Given the description of an element on the screen output the (x, y) to click on. 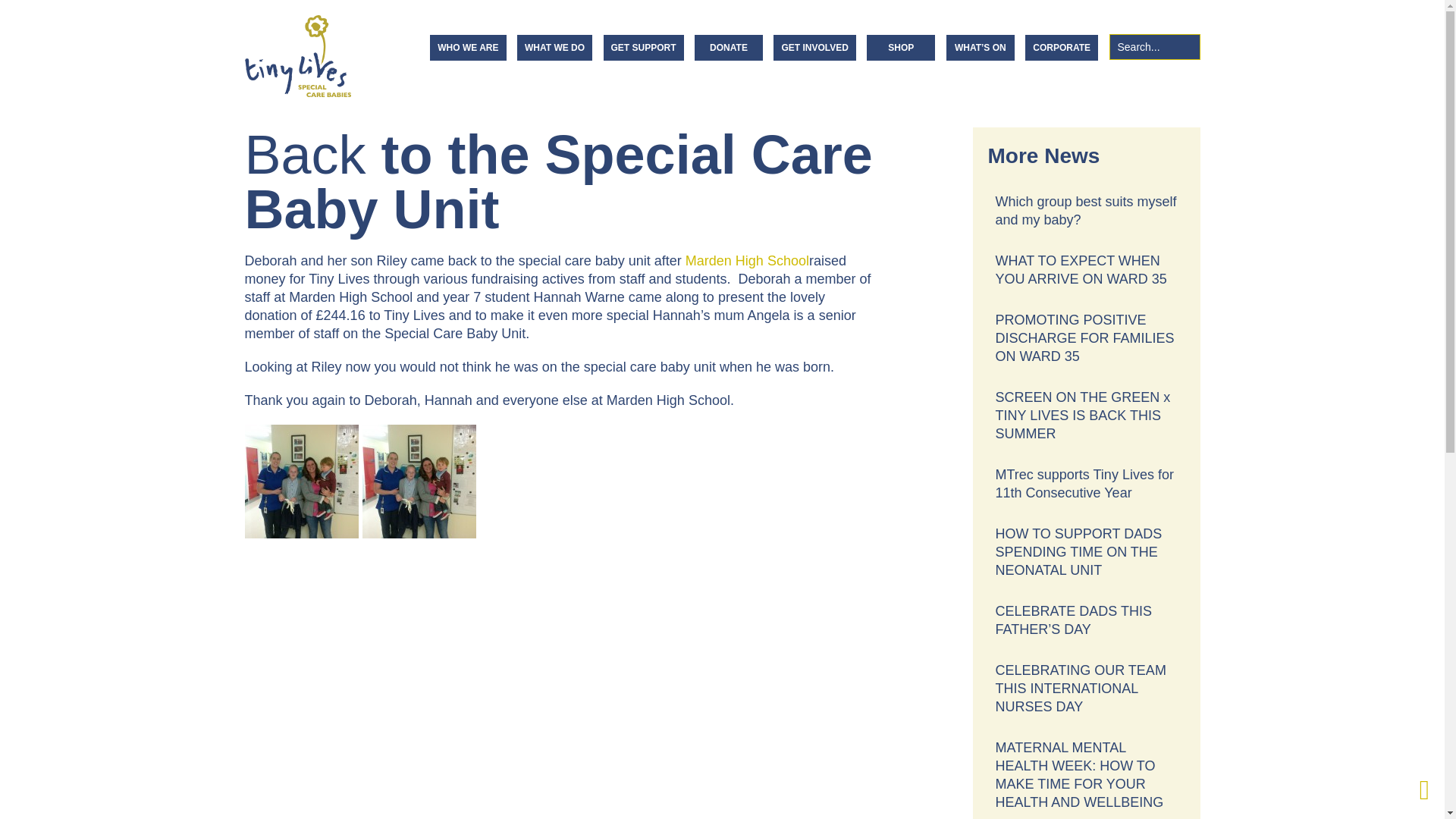
WHAT WE DO (554, 47)
SHOP (900, 47)
Marden High School (747, 260)
GET SUPPORT (644, 47)
WHO WE ARE (467, 47)
Which group best suits myself and my baby? (1086, 210)
GET INVOLVED (814, 47)
CELEBRATING OUR TEAM THIS INTERNATIONAL NURSES DAY (1086, 688)
CORPORATE (1061, 47)
MTrec supports Tiny Lives for 11th Consecutive Year (1086, 483)
DONATE (728, 47)
WHAT TO EXPECT WHEN YOU ARRIVE ON WARD 35 (1086, 269)
SCREEN ON THE GREEN x TINY LIVES IS BACK THIS SUMMER (1086, 415)
HOW TO SUPPORT DADS SPENDING TIME ON THE NEONATAL UNIT (1086, 551)
